Given the description of an element on the screen output the (x, y) to click on. 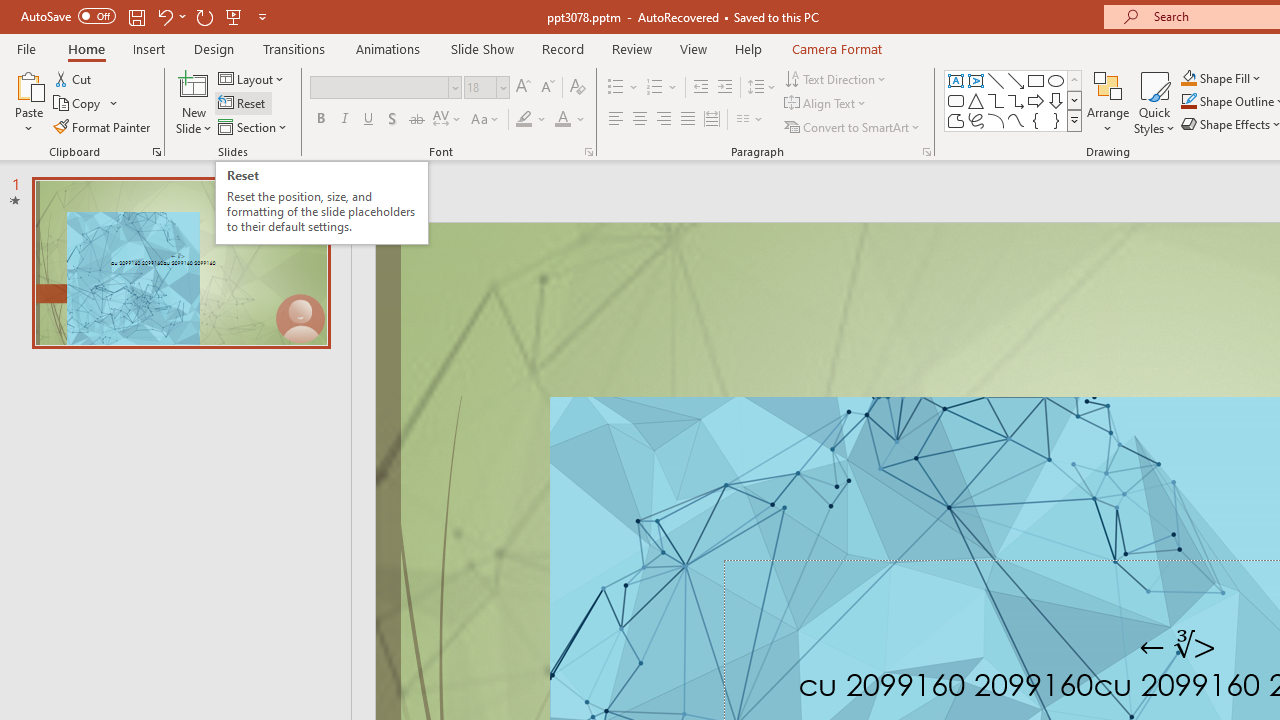
Shape Fill (1221, 78)
Font... (588, 151)
Isosceles Triangle (975, 100)
Office Clipboard... (156, 151)
Align Right (663, 119)
Row Down (1074, 100)
Bold (320, 119)
